Given the description of an element on the screen output the (x, y) to click on. 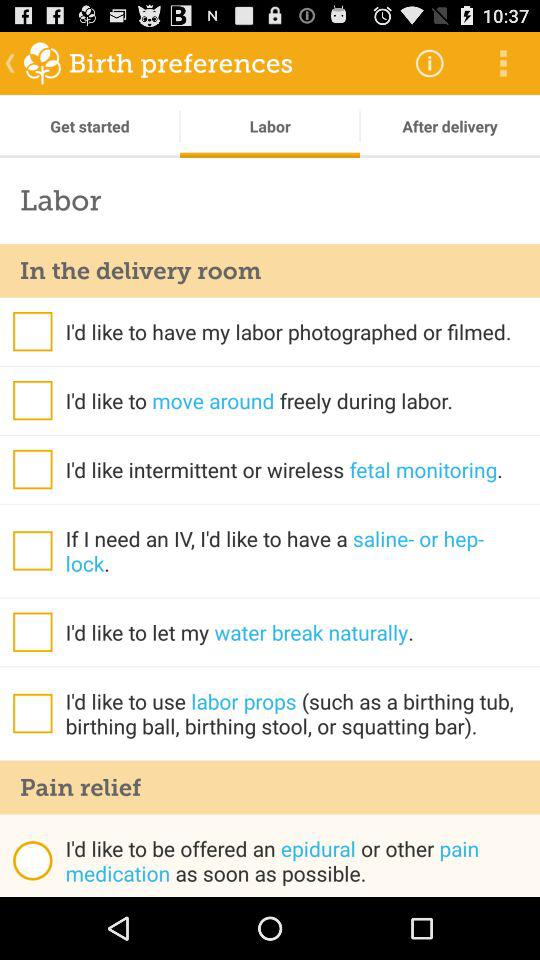
press the item above the after delivery app (429, 62)
